Given the description of an element on the screen output the (x, y) to click on. 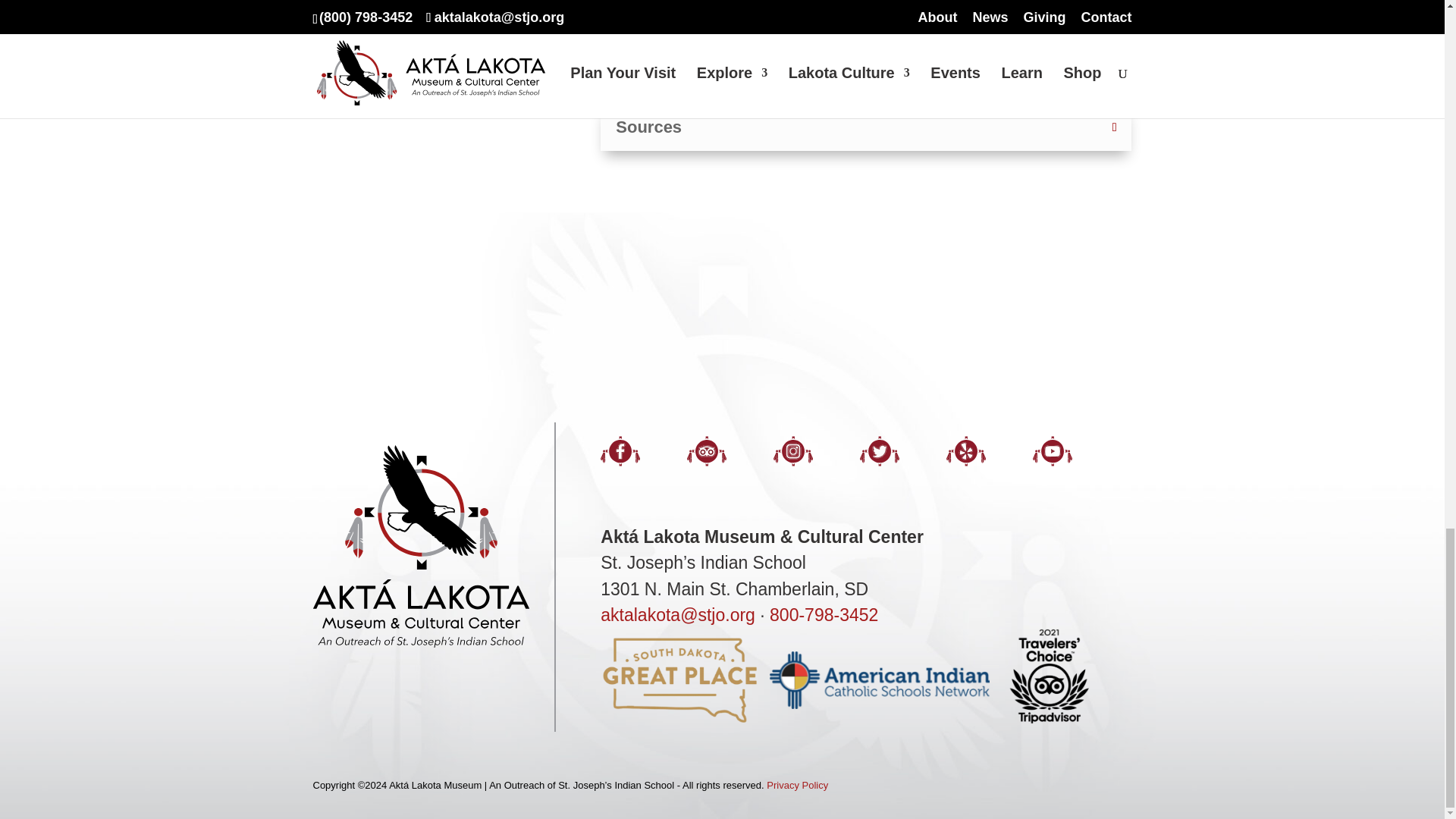
Follow on Twitter (896, 458)
Follow on Yelp (982, 458)
Follow on TripAdvisor (723, 458)
Follow on Facebook (635, 458)
Follow on Instagram (809, 458)
Follow on Youtube (1068, 458)
